Given the description of an element on the screen output the (x, y) to click on. 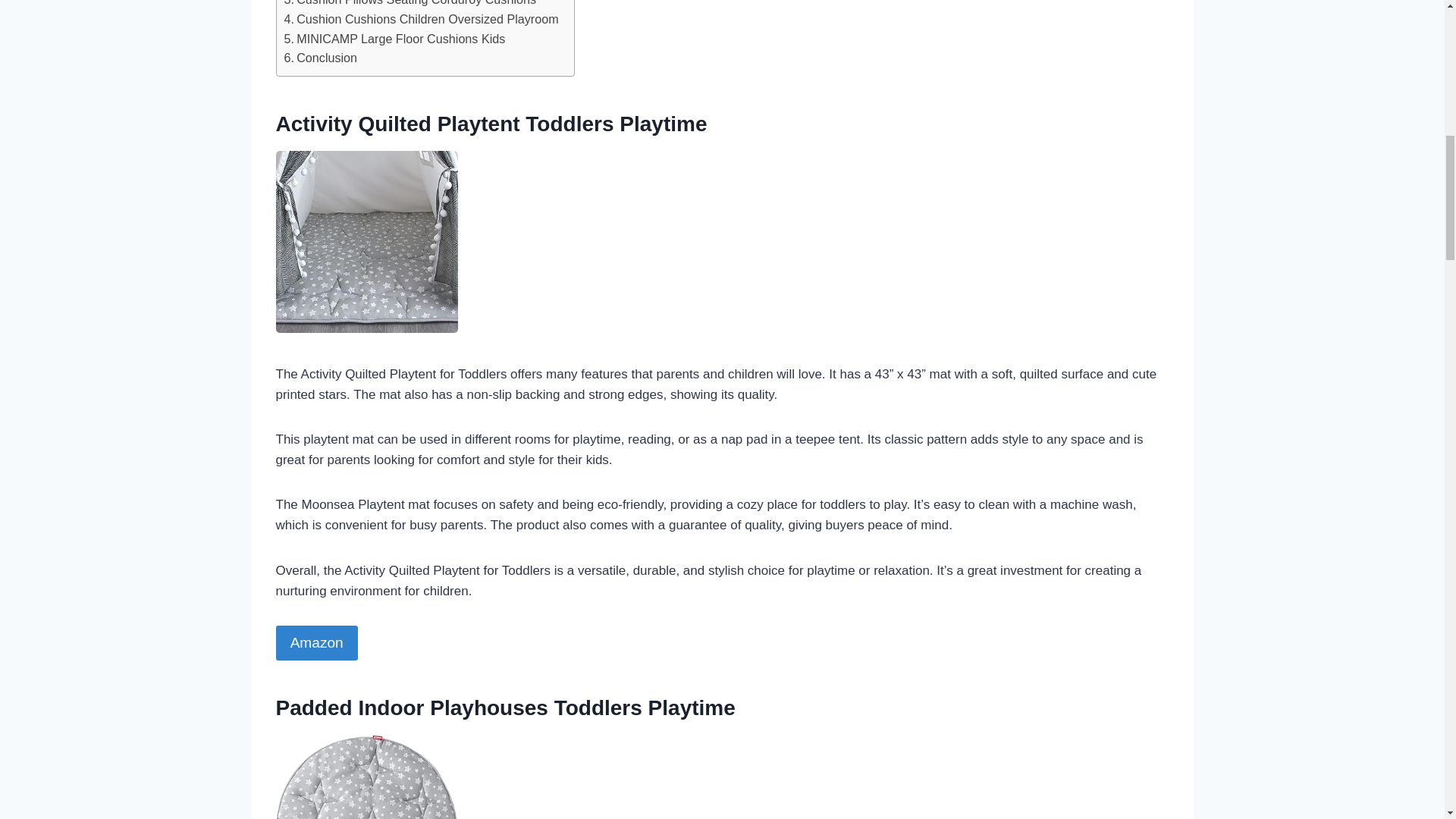
Cushion Pillows Seating Corduroy Cushions (409, 4)
Conclusion (319, 57)
Cushion Cushions Children Oversized Playroom (420, 19)
MINICAMP Large Floor Cushions Kids (394, 39)
Cushion Cushions Children Oversized Playroom (420, 19)
Cushion Pillows Seating Corduroy Cushions (409, 4)
MINICAMP Large Floor Cushions Kids (394, 39)
Conclusion (319, 57)
Amazon (317, 642)
